Given the description of an element on the screen output the (x, y) to click on. 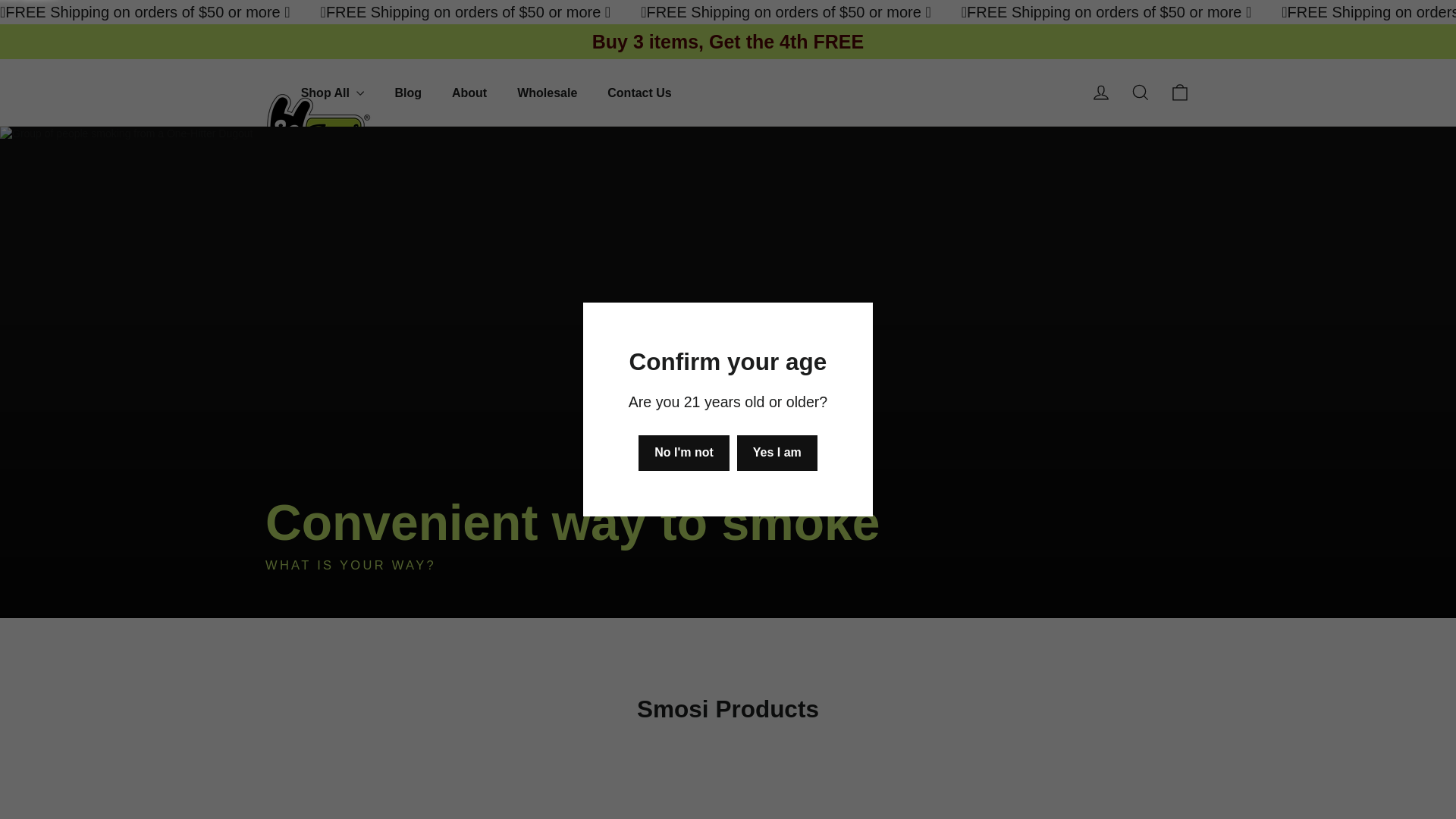
Blog (407, 92)
Wholesale (1179, 92)
About (547, 92)
account (469, 92)
Blog (1101, 92)
Contact Us (1140, 92)
icon-search (407, 92)
